Given the description of an element on the screen output the (x, y) to click on. 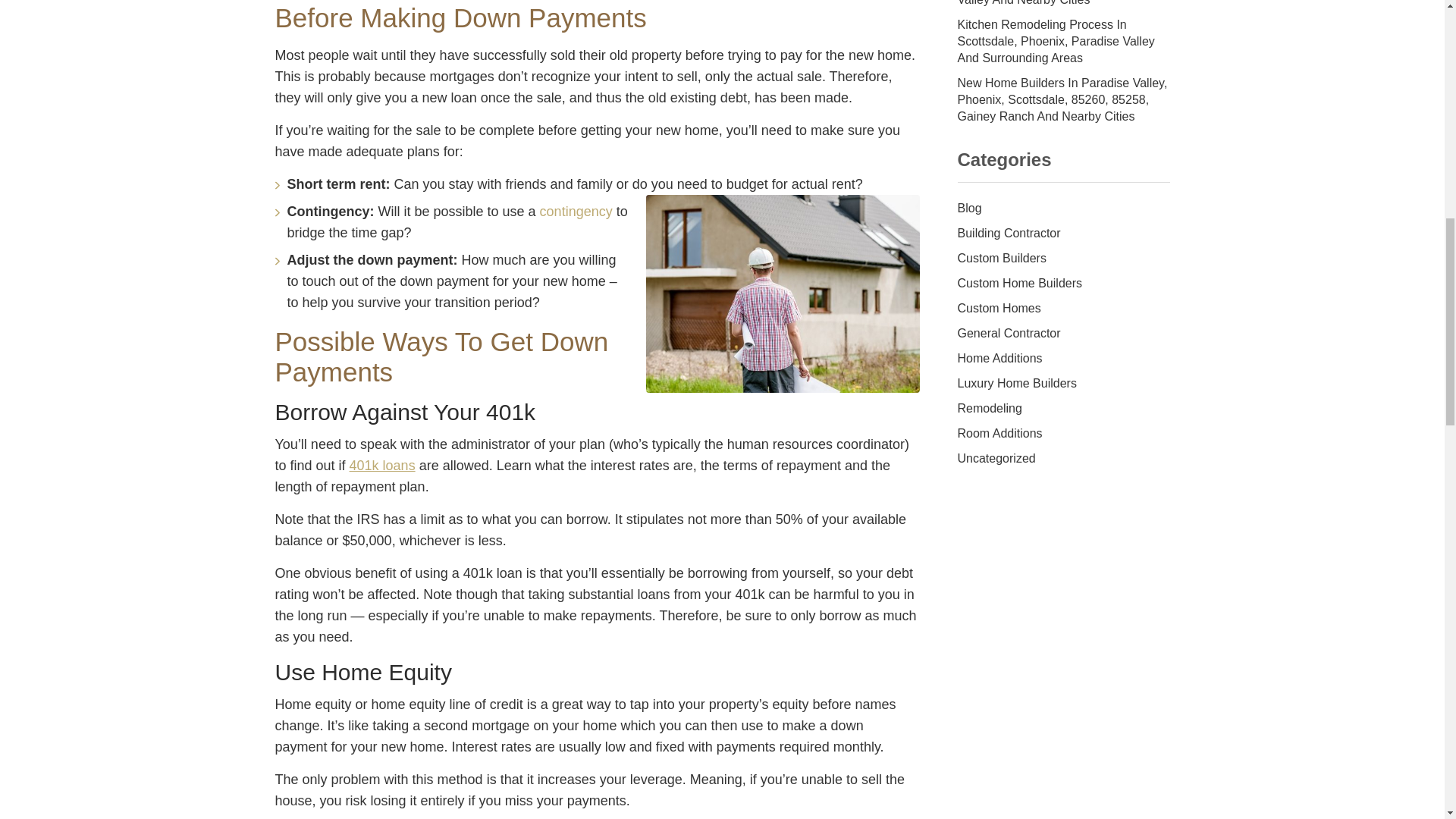
General Contractor (1062, 333)
401k loans (381, 465)
How to Build a Home Before Selling Yours (783, 293)
Custom Homes (1062, 308)
Luxury Home Builders (1062, 383)
contingency (576, 211)
Building Contractor (1062, 233)
Custom Home Builders (1062, 283)
Blog (1062, 208)
Custom Builders (1062, 258)
Home Additions (1062, 358)
